Given the description of an element on the screen output the (x, y) to click on. 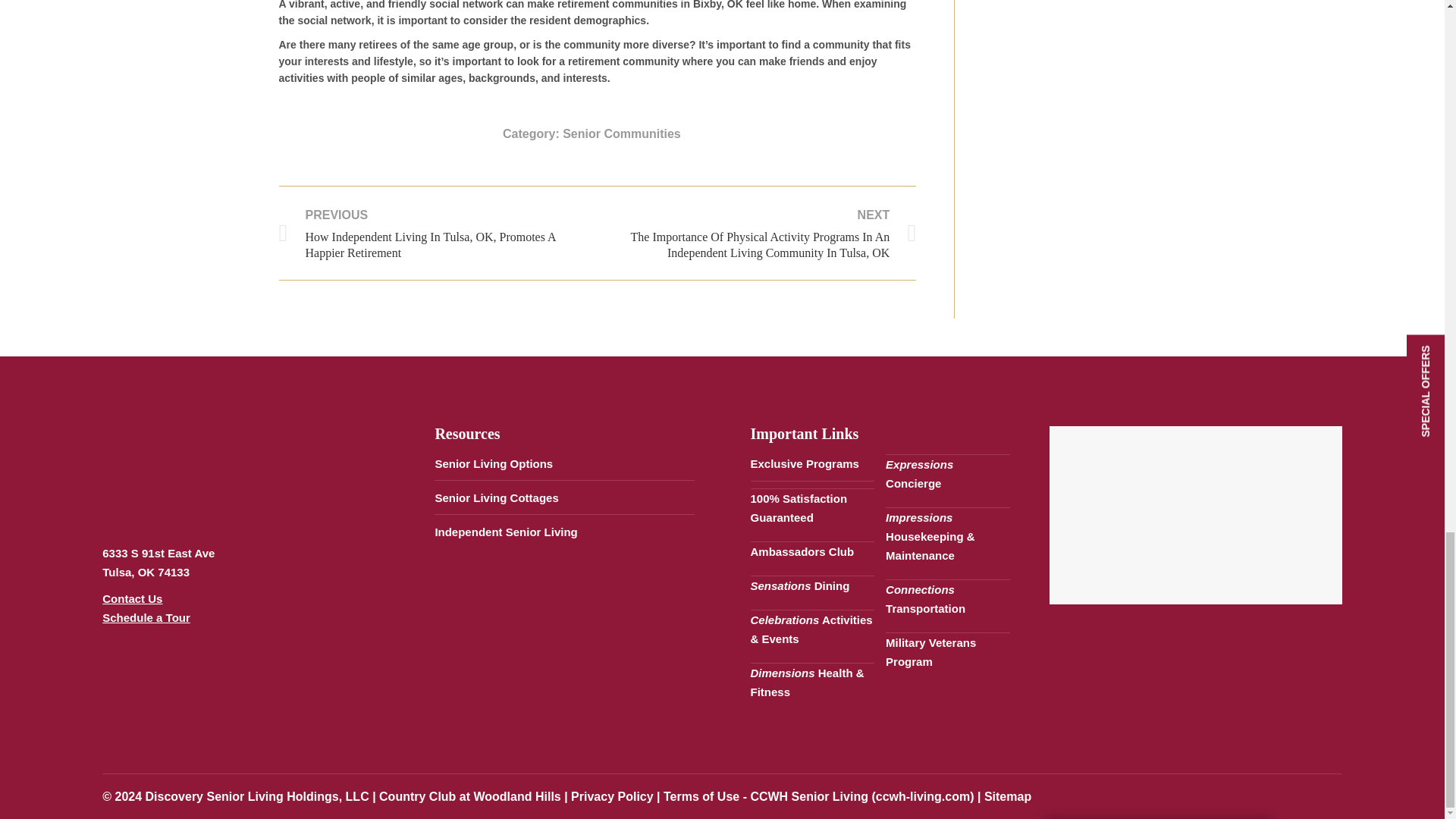
Country-Club-Of-Woodland-Hills-LOGO-white (177, 470)
Equal-Housing-Opportunity-logo222 (142, 692)
Equal-Housing-Opportunity-logo22-150x144-1 (248, 692)
